Given the description of an element on the screen output the (x, y) to click on. 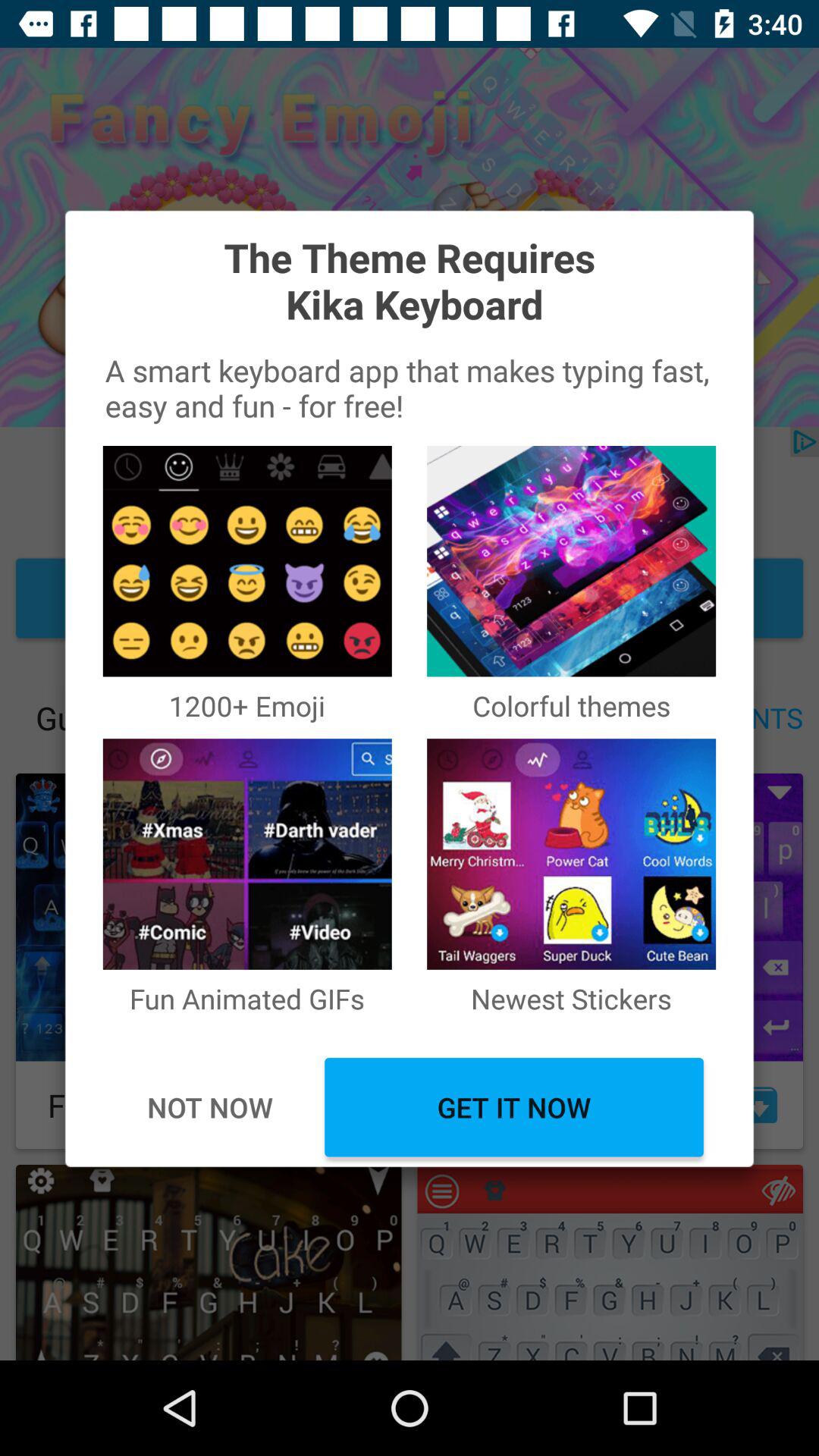
select the icon below fun animated gifs item (209, 1106)
